Given the description of an element on the screen output the (x, y) to click on. 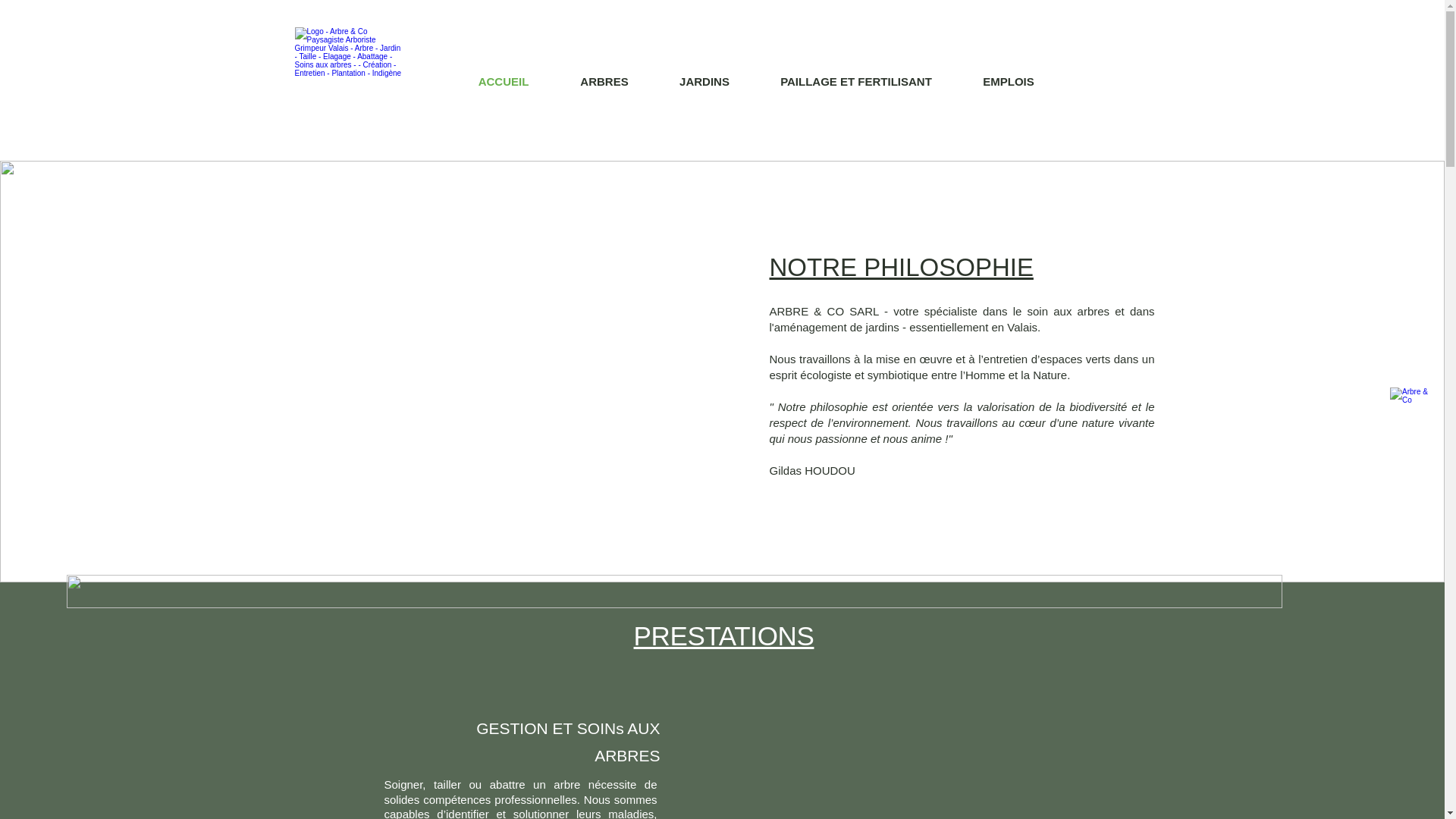
EMPLOIS Element type: text (1008, 81)
JARDINS Element type: text (703, 81)
PAILLAGE ET FERTILISANT Element type: text (856, 81)
ACCUEIL Element type: text (502, 81)
NOTRE PHILOSOPHIE Element type: text (900, 267)
PRESTATIONS Element type: text (723, 635)
GESTION ET SOINs AUX ARBRES Element type: text (567, 741)
ARBRES Element type: text (604, 81)
